Given the description of an element on the screen output the (x, y) to click on. 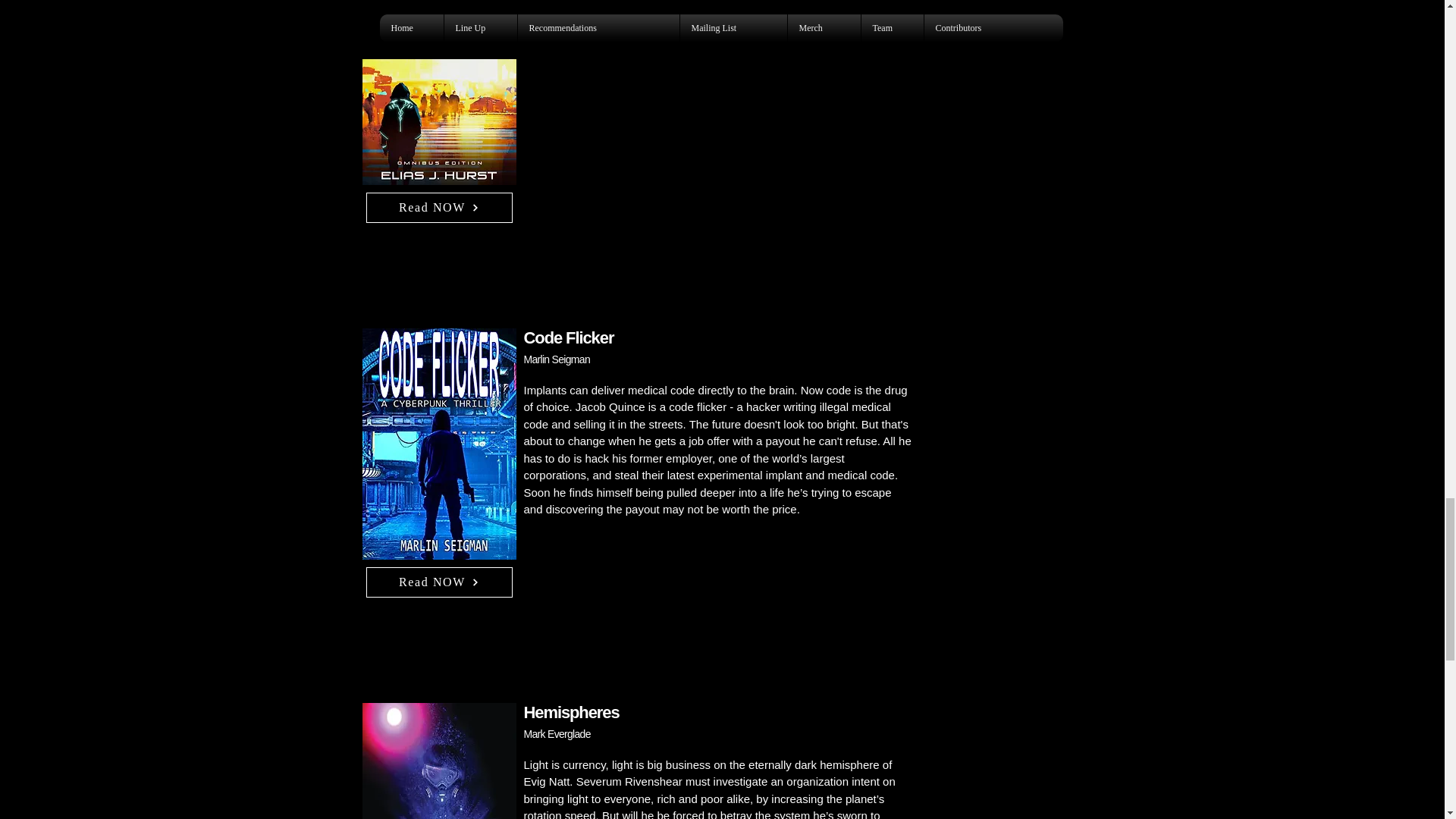
Cover Barnes and Nobel Cover.jpg (439, 760)
Read NOW (438, 207)
Read NOW (438, 582)
